Given the description of an element on the screen output the (x, y) to click on. 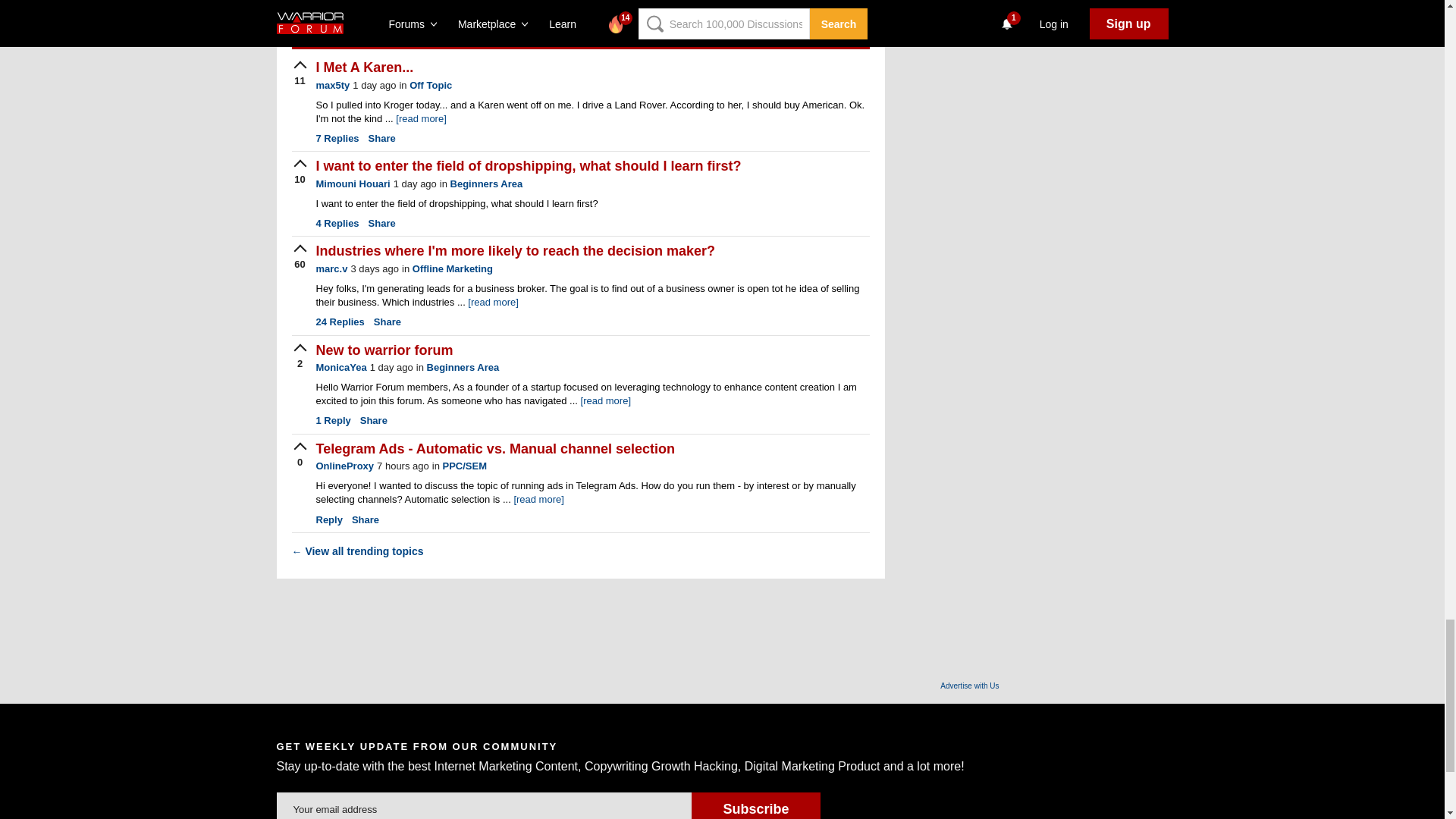
Subscribe (755, 805)
